Given the description of an element on the screen output the (x, y) to click on. 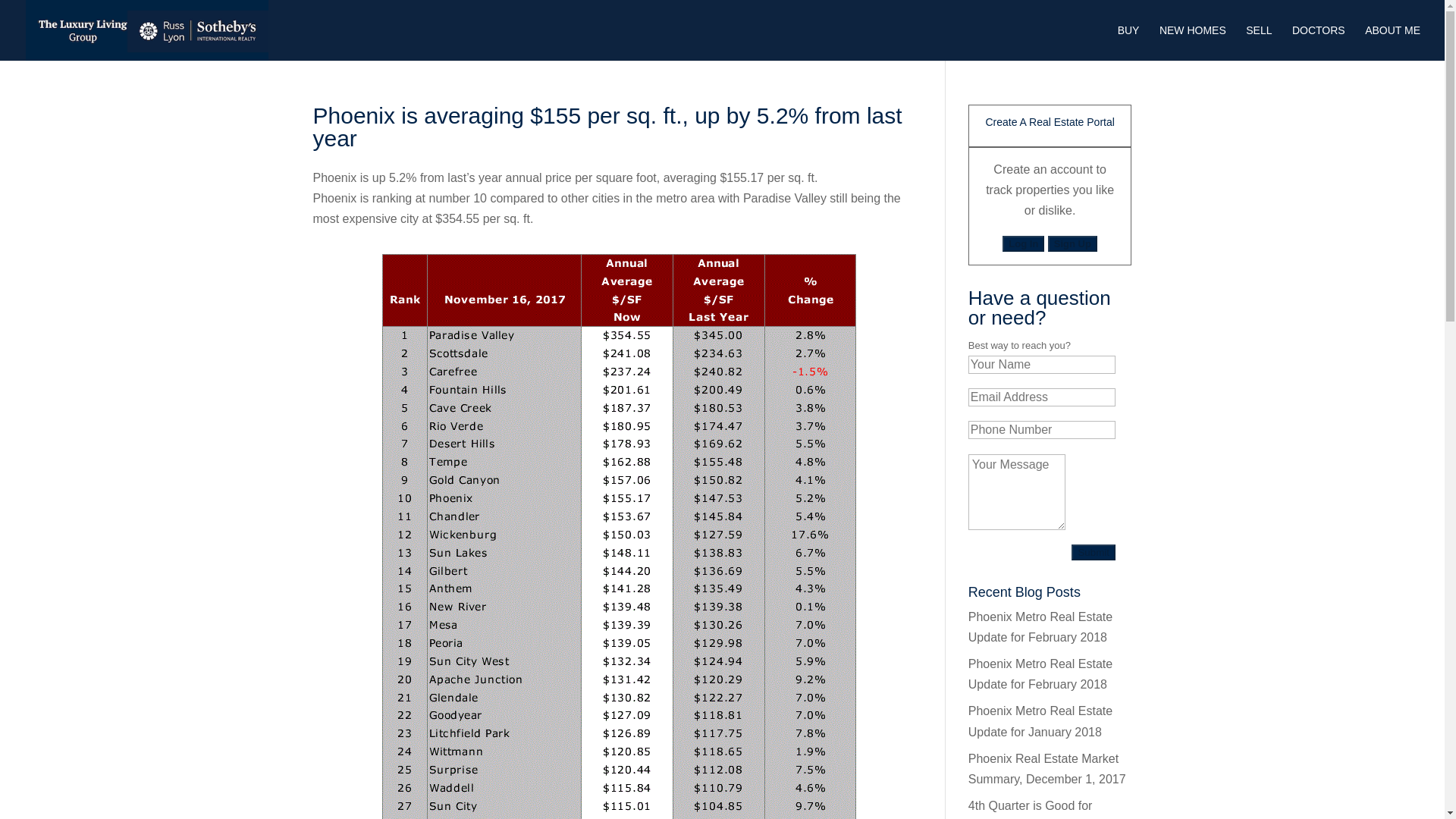
Phoenix Real Estate Market Summary, December 1, 2017 (1046, 768)
Phoenix Metro Real Estate Update for February 2018 (1040, 674)
NEW HOMES (1191, 42)
Phoenix Metro Real Estate Update for February 2018 (1040, 626)
DOCTORS (1318, 42)
I specialize in working with Doctors (1318, 42)
Phoenix Metro Real Estate Update for January 2018 (1040, 720)
Meet Dorette Oppong-Takyi (1393, 42)
Sign Up (1072, 243)
Log In (1023, 243)
ABOUT ME (1393, 42)
Submit (1093, 552)
